Given the description of an element on the screen output the (x, y) to click on. 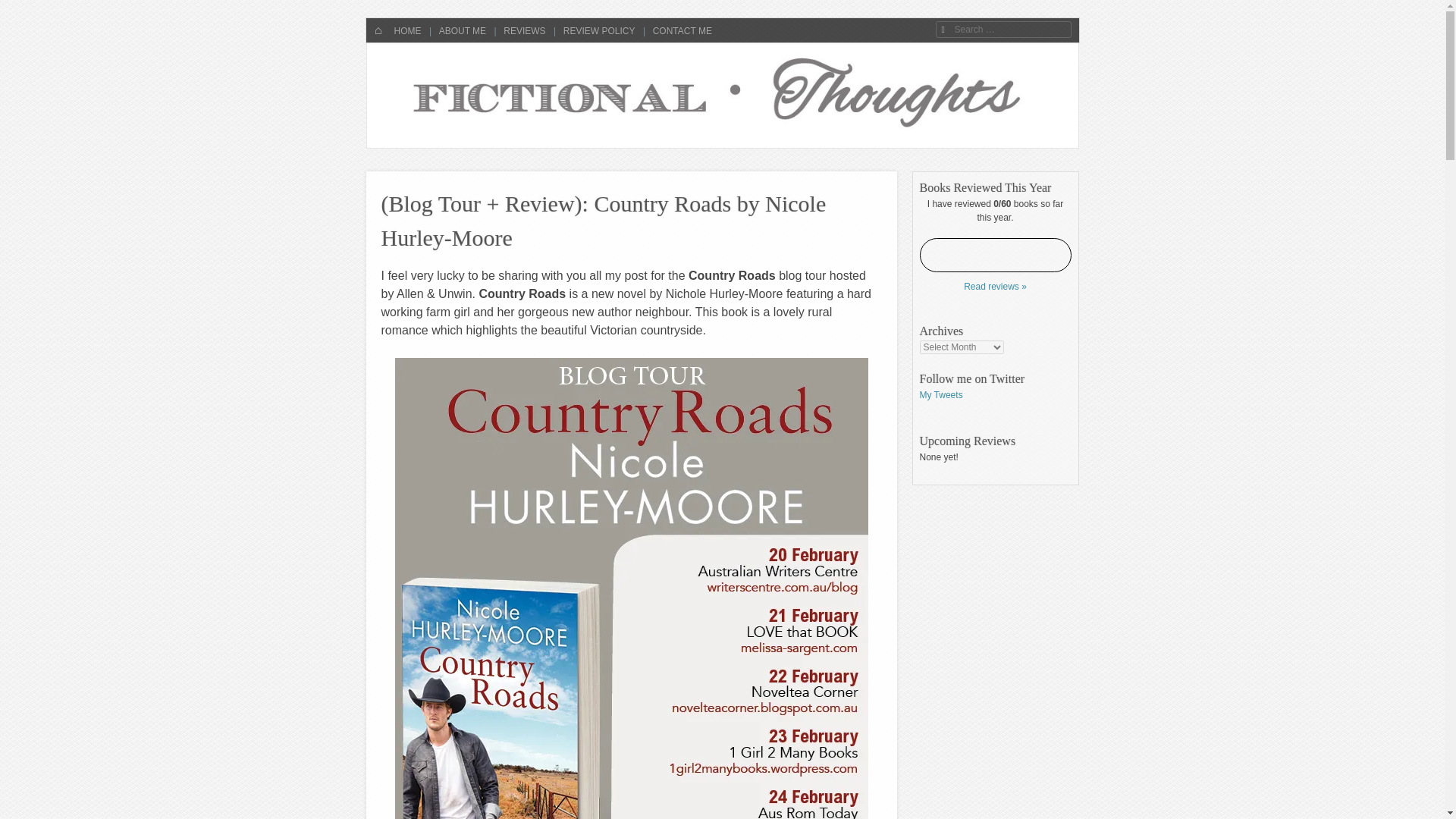
ABOUT ME (460, 30)
HOME (378, 30)
HOME (406, 30)
REVIEW POLICY (597, 30)
SKIP TO CONTENT (412, 30)
REVIEWS (523, 30)
Fictional Thoughts (495, 87)
CONTACT ME (680, 30)
Fictional Thoughts (495, 87)
Home (378, 30)
Search (24, 9)
Skip to content (412, 30)
